Given the description of an element on the screen output the (x, y) to click on. 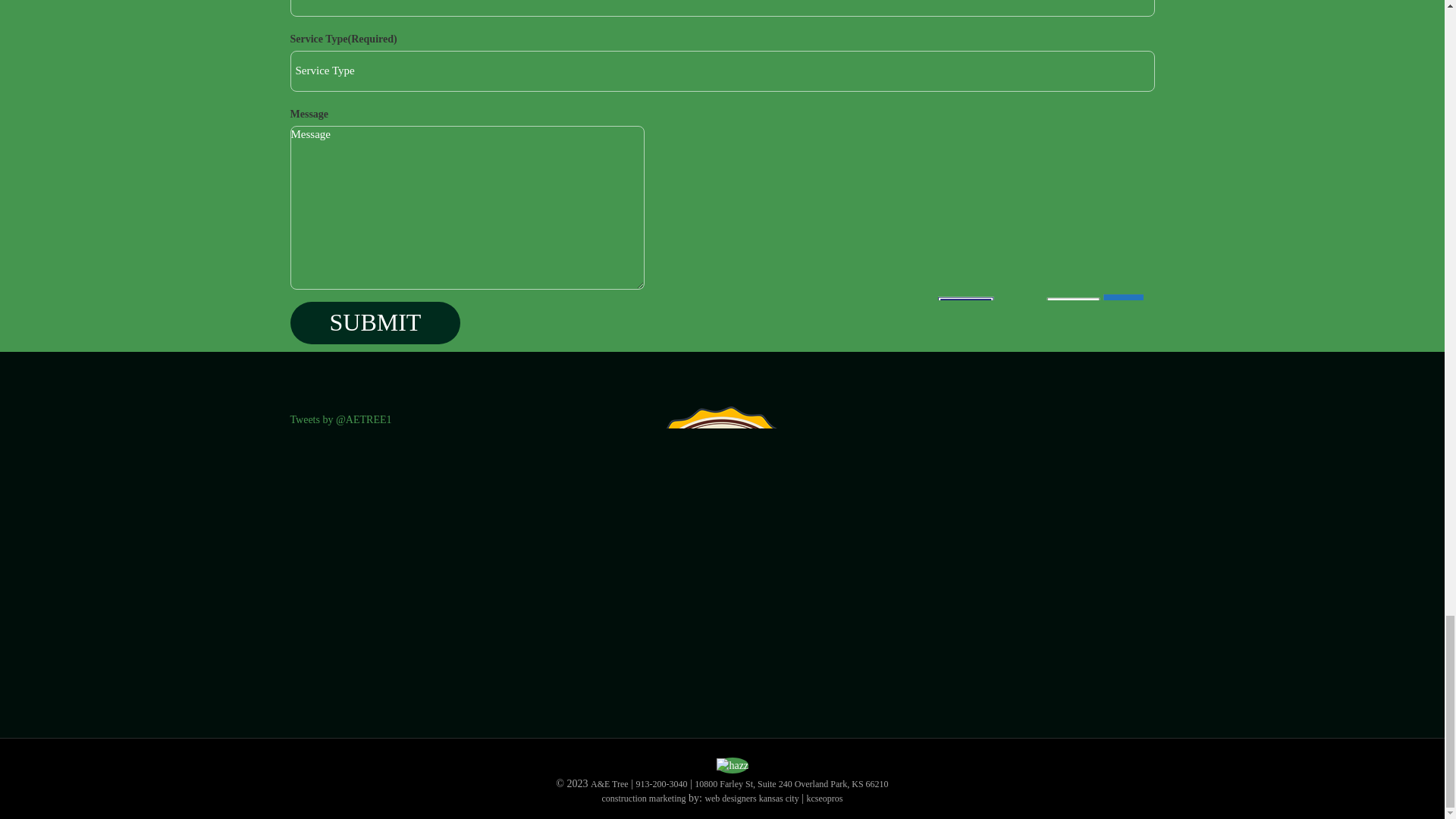
web designers kansas city (750, 798)
913-200-3040 (660, 783)
construction marketing (643, 798)
kcseopros (824, 798)
Submit (374, 322)
Submit (374, 322)
10800 Farley St, Suite 240 Overland Park, KS 66210 (791, 783)
hazz (732, 765)
